Given the description of an element on the screen output the (x, y) to click on. 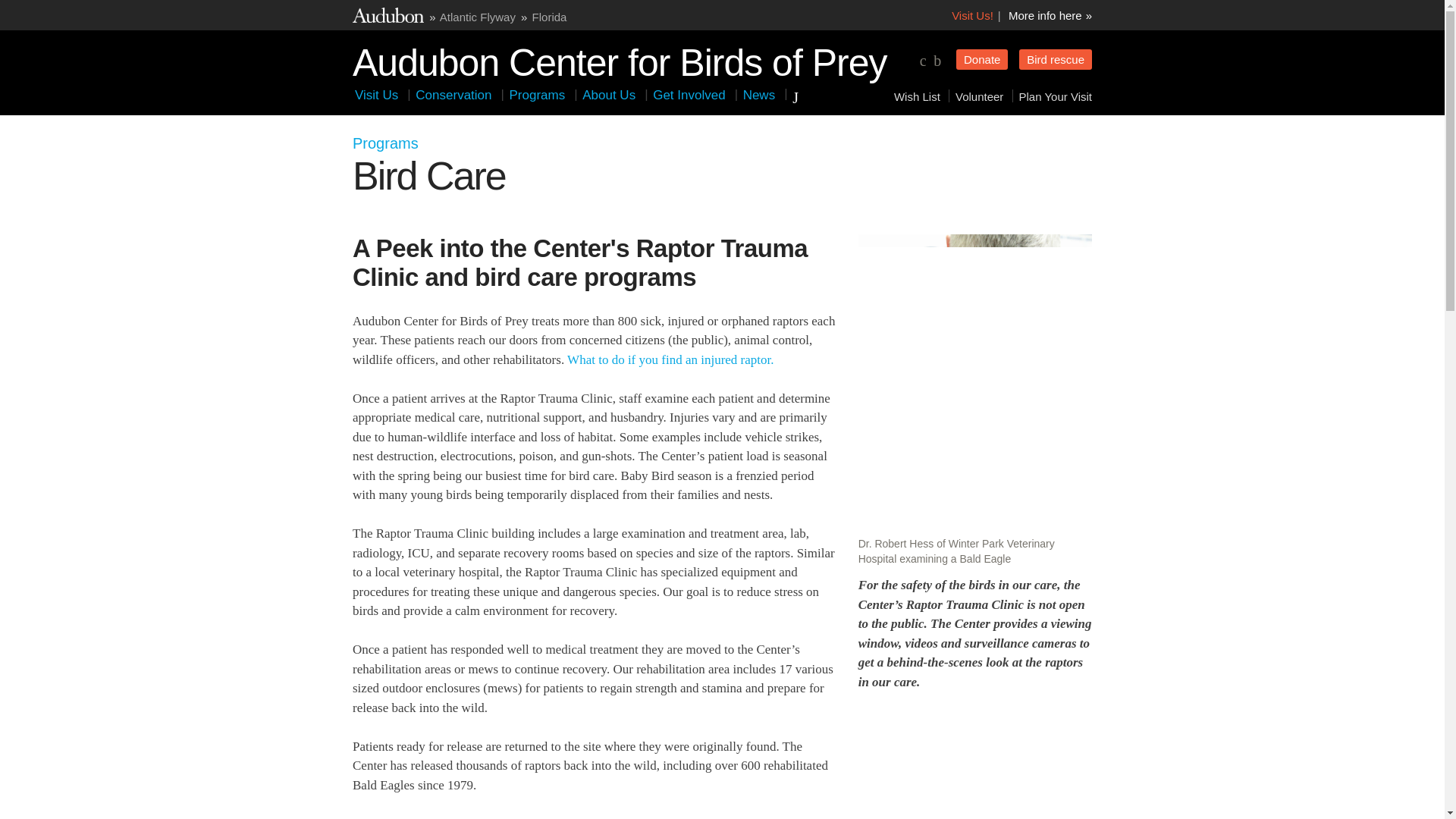
Get Involved (688, 95)
Programs (537, 95)
Bird rescue (1055, 59)
Conservation (453, 95)
About Us (609, 95)
Atlantic Flyway (477, 16)
Donate (981, 59)
More info here (1050, 15)
Audubon Center for Birds of Prey (619, 59)
Florida (549, 16)
